Given the description of an element on the screen output the (x, y) to click on. 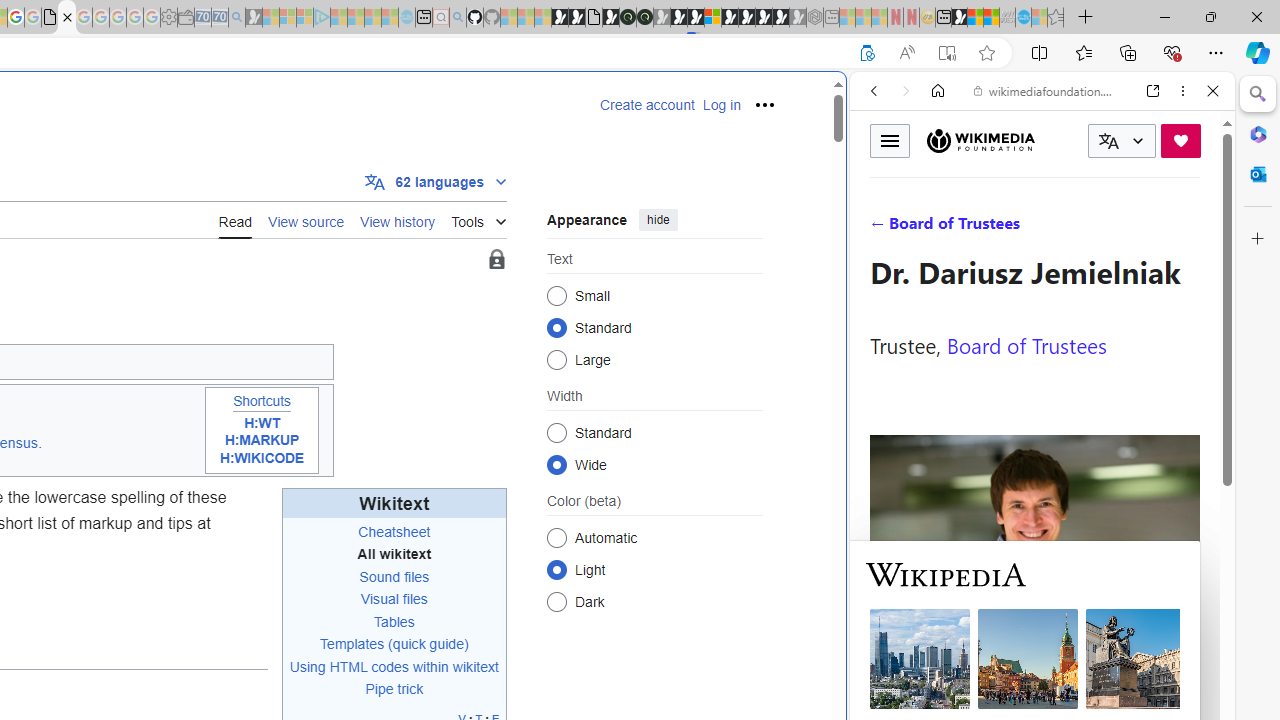
Frequently visited (418, 265)
Personal tools (764, 104)
Tools (478, 218)
Search or enter web address (343, 191)
Sign in to your account (712, 17)
Cheap Car Rentals - Save70.com - Sleeping (219, 17)
Close Customize pane (1258, 239)
Services - Maintenance | Sky Blue Bikes - Sky Blue Bikes (1023, 17)
Microsoft account | Privacy - Sleeping (305, 17)
